Given the description of an element on the screen output the (x, y) to click on. 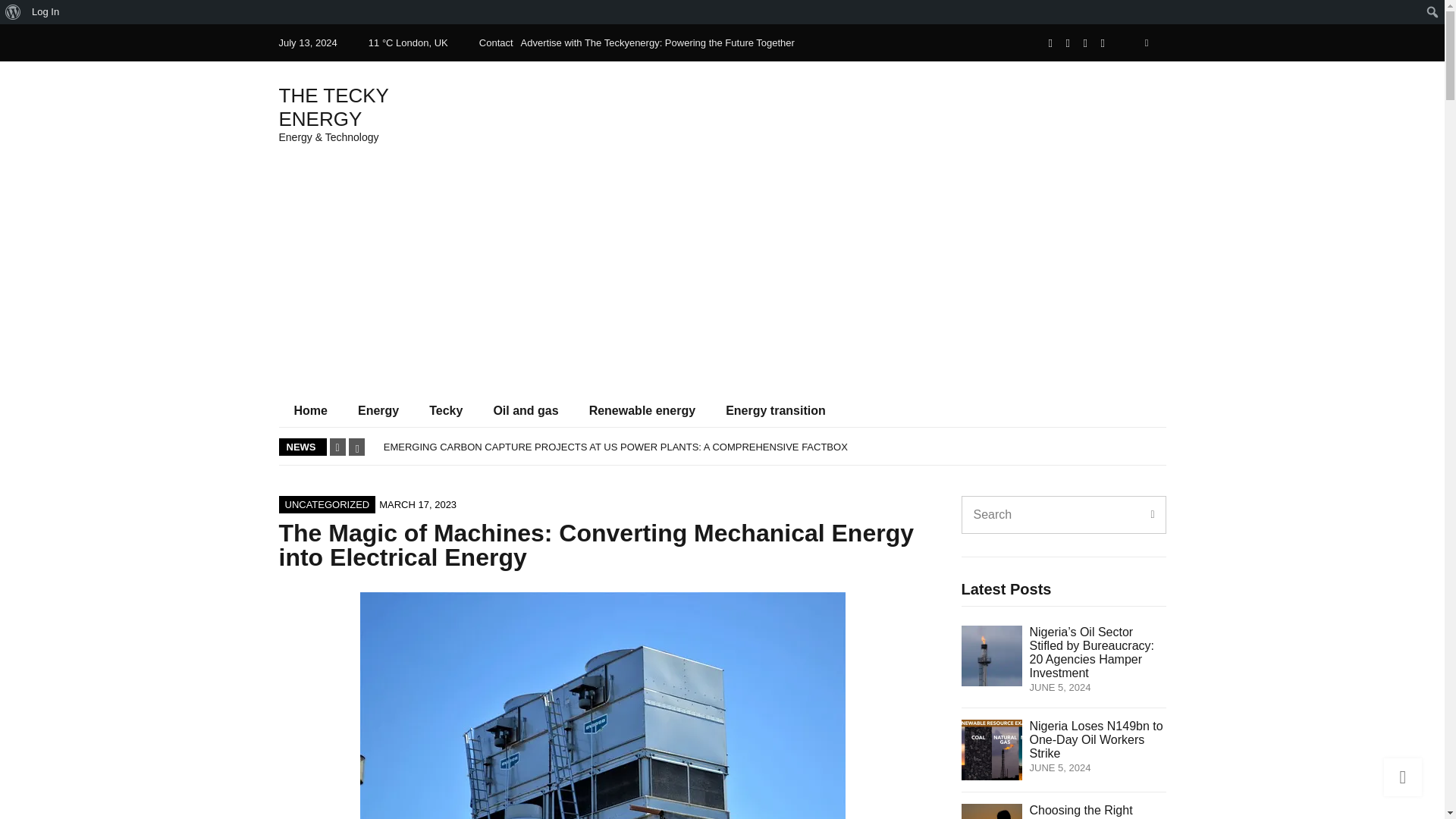
Search (16, 13)
Energy (377, 410)
Energy transition (775, 410)
Home (310, 410)
Renewable energy (642, 410)
Instagram (1085, 42)
Facebook (1051, 42)
Twitter (1068, 42)
YouTube (1102, 42)
Advertise with The Teckyenergy: Powering the Future Together (657, 42)
THE TECKY ENERGY (333, 107)
Contact (496, 42)
Tecky (445, 410)
